Given the description of an element on the screen output the (x, y) to click on. 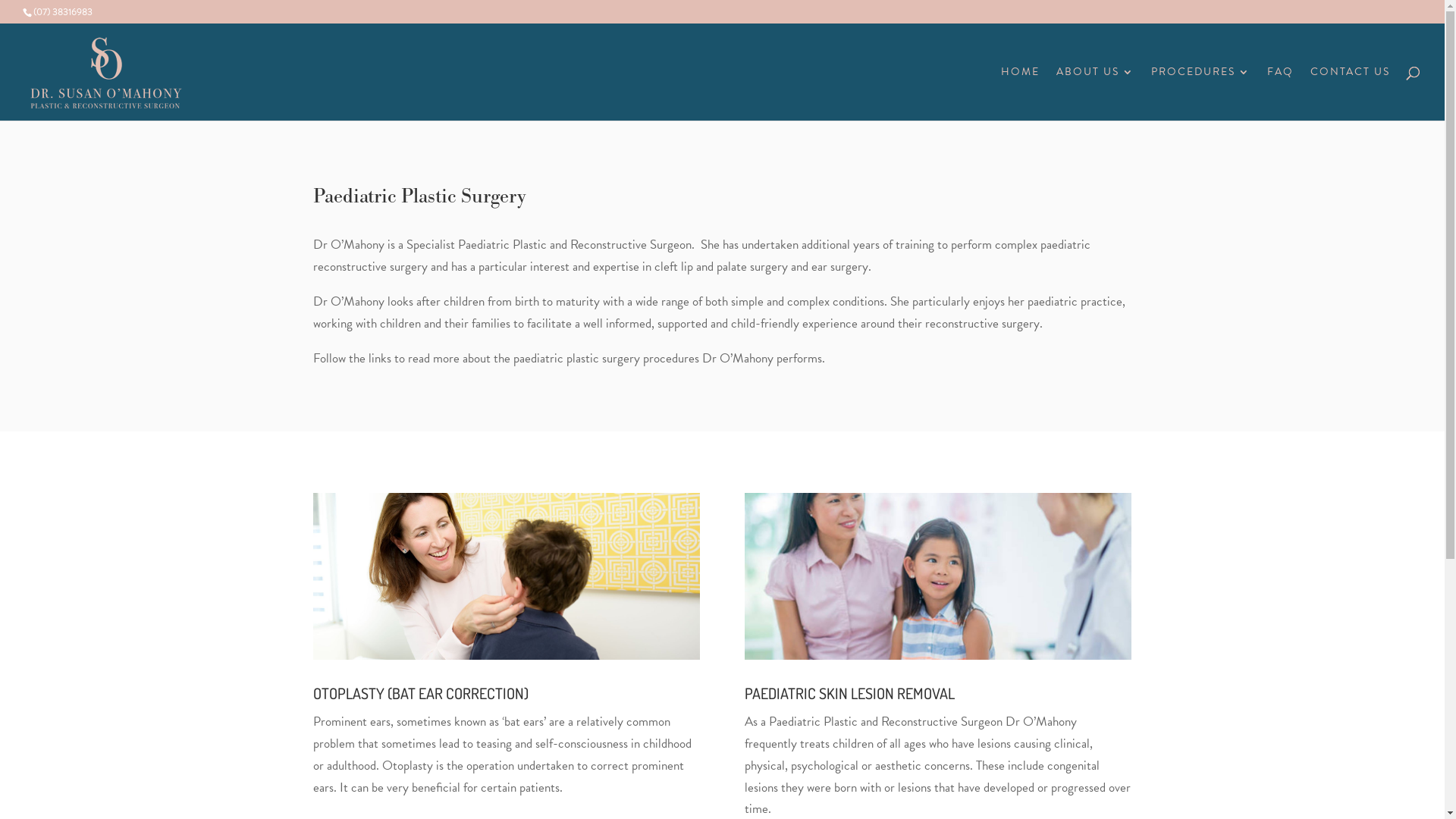
CONTACT US Element type: text (1350, 93)
FAQ Element type: text (1280, 93)
(07) 38316983 Element type: text (62, 11)
ABOUT US Element type: text (1095, 93)
HOME Element type: text (1020, 93)
PROCEDURES Element type: text (1200, 93)
